Given the description of an element on the screen output the (x, y) to click on. 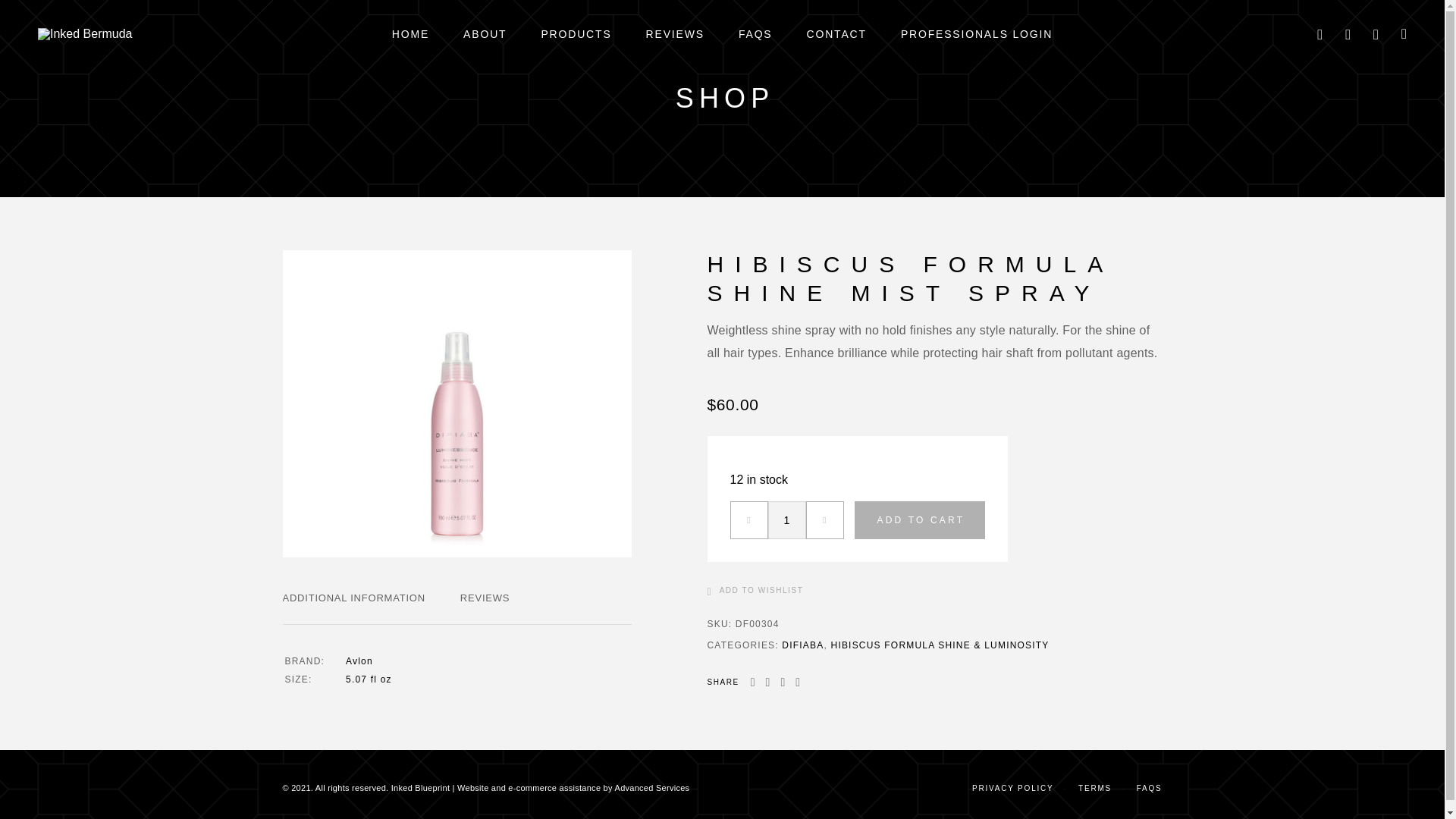
PRODUCTS (575, 33)
Avlon (359, 661)
CONTACT (836, 33)
Qty (786, 519)
ADDITIONAL INFORMATION (353, 597)
FAQS (755, 33)
ABOUT (484, 33)
PROFESSIONALS LOGIN (976, 33)
REVIEWS (484, 597)
REVIEWS (675, 33)
